Given the description of an element on the screen output the (x, y) to click on. 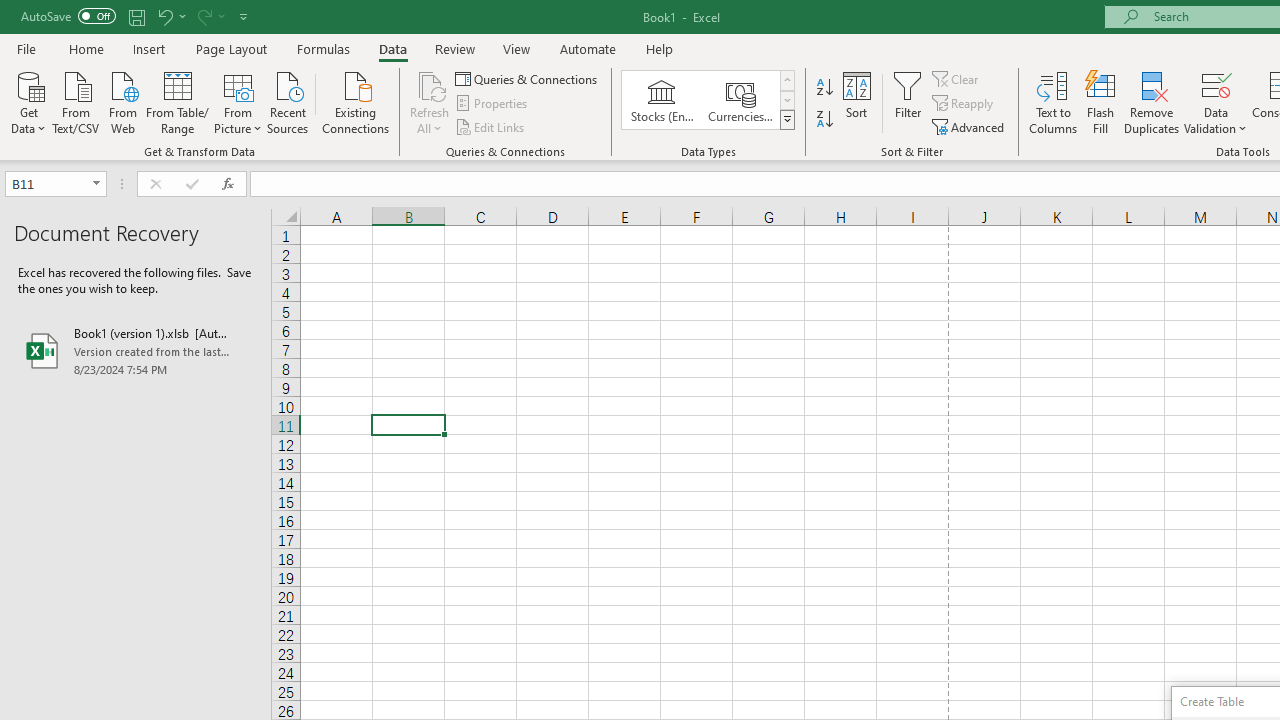
AutomationID: ConvertToLinkedEntity (708, 99)
Sort... (856, 102)
Sort Z to A (824, 119)
Text to Columns... (1053, 102)
From Picture (238, 101)
Flash Fill (1101, 102)
Currencies (English) (740, 100)
Recent Sources (287, 101)
Queries & Connections (527, 78)
